Given the description of an element on the screen output the (x, y) to click on. 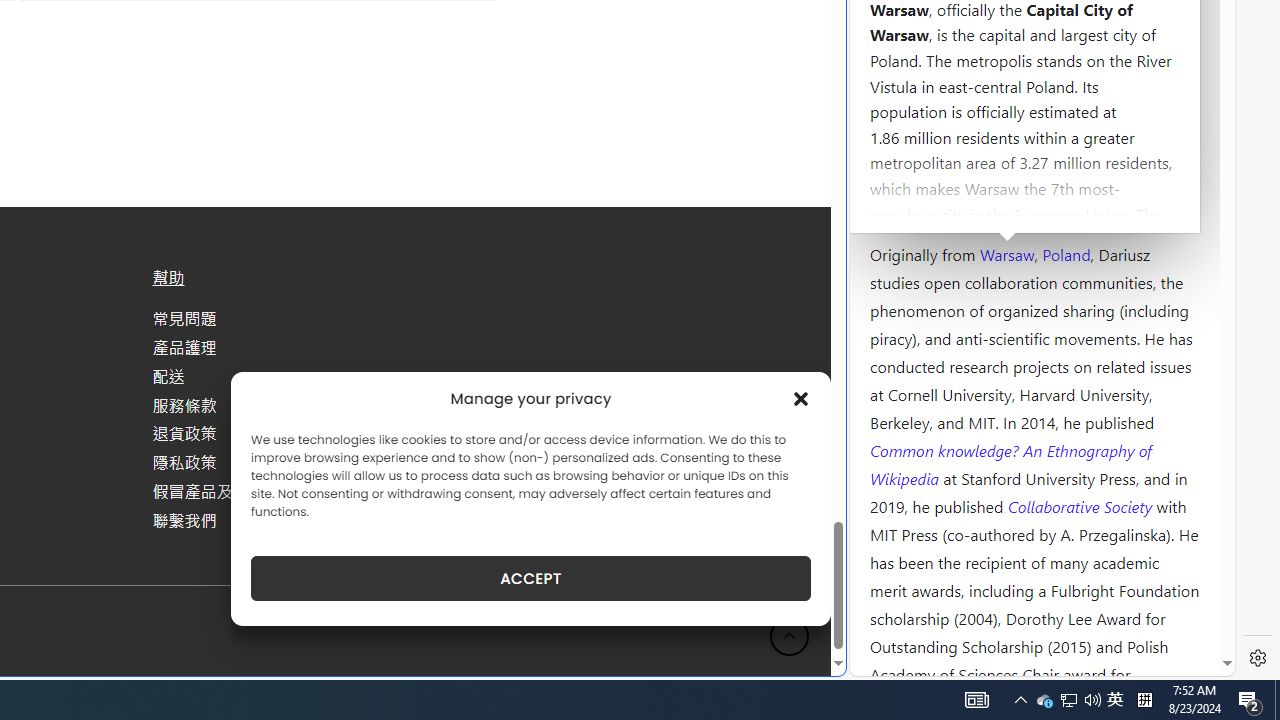
ACCEPT (530, 578)
Harvard University (934, 205)
Common knowledge? An Ethnography of Wikipedia (1010, 463)
